Given the description of an element on the screen output the (x, y) to click on. 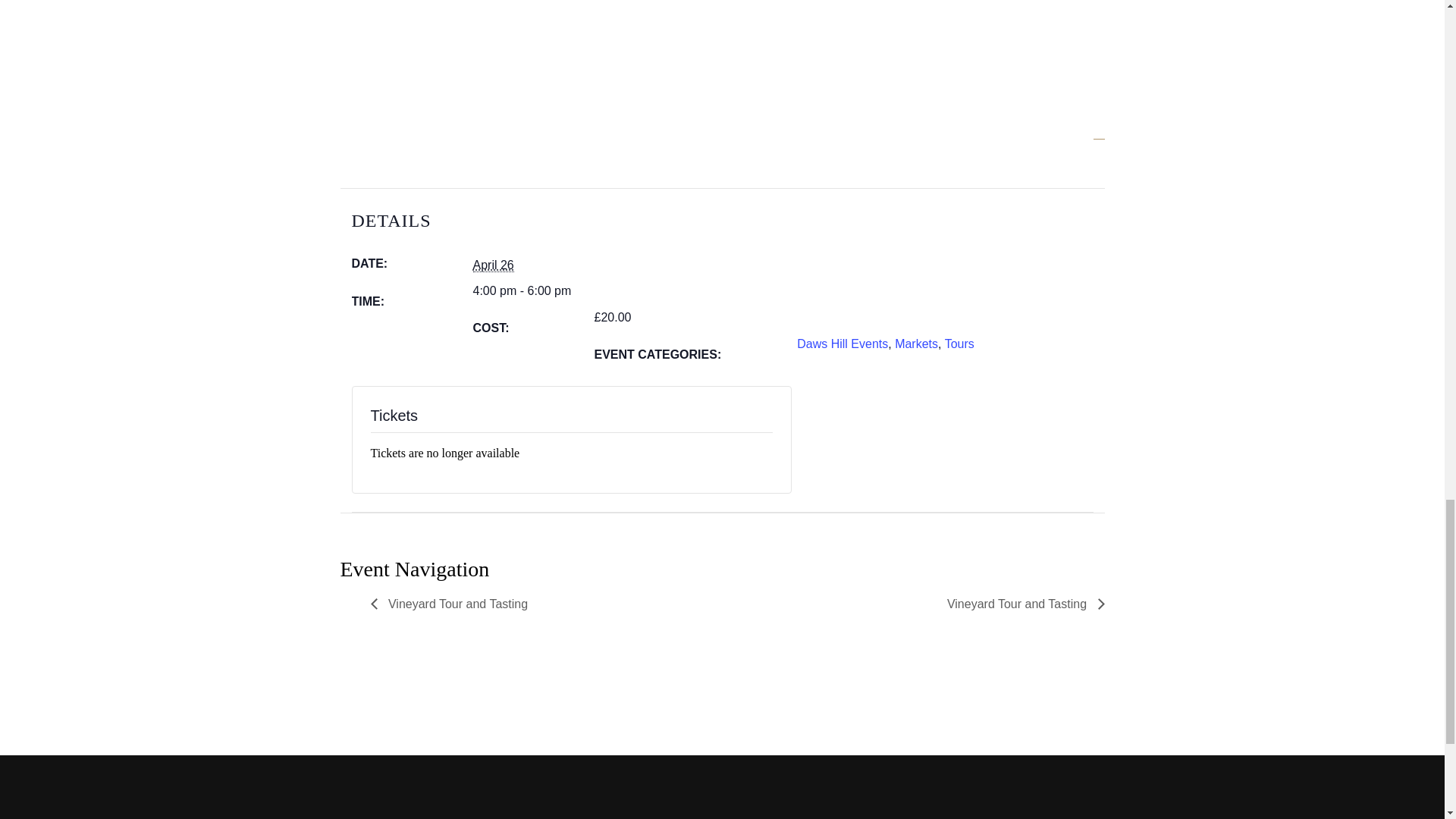
Vineyard Tour and Tasting (452, 603)
Vineyard Tour and Tasting (1022, 603)
Tours (959, 343)
Markets (916, 343)
Daws Hill Events (842, 343)
